Given the description of an element on the screen output the (x, y) to click on. 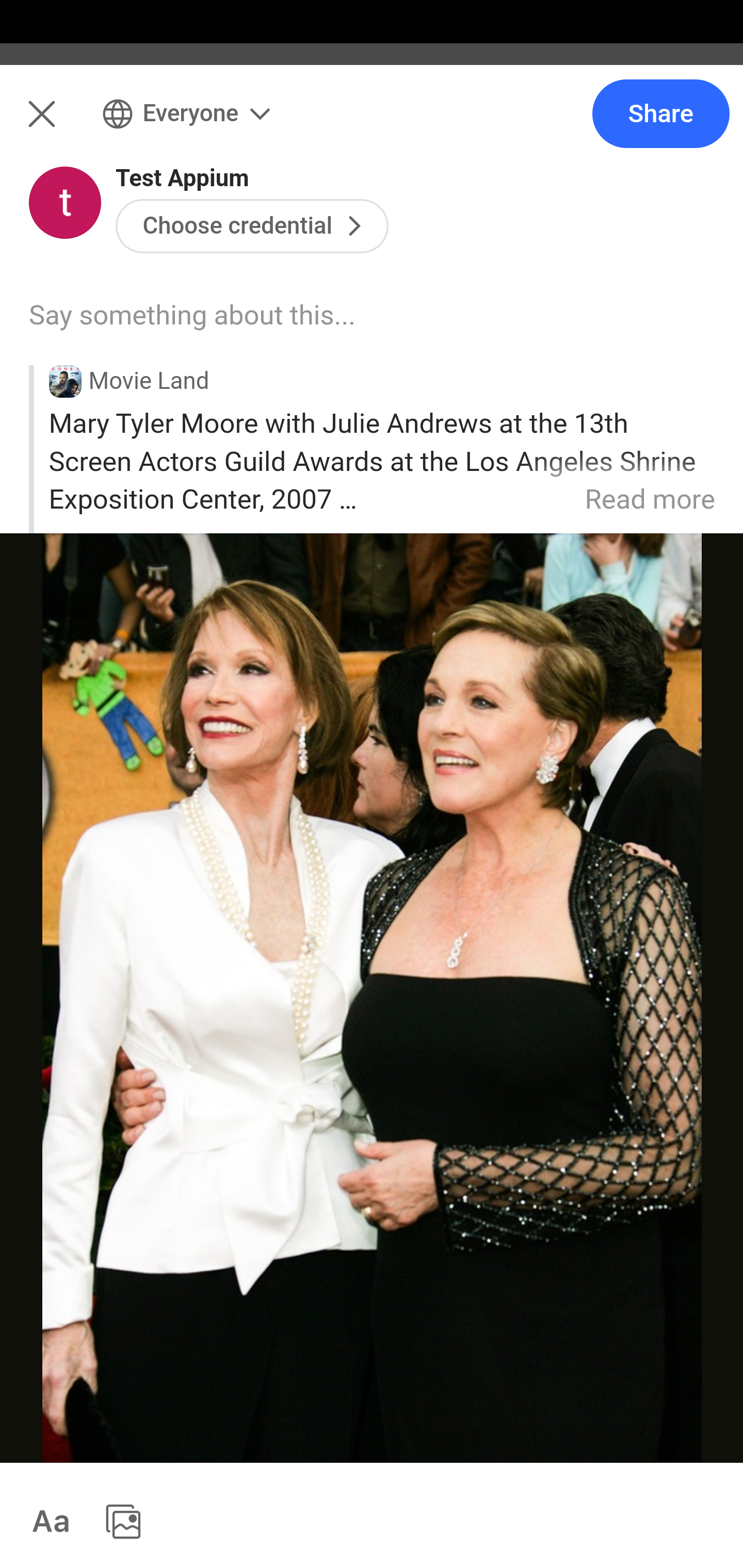
Back (371, 125)
Back (30, 125)
